Given the description of an element on the screen output the (x, y) to click on. 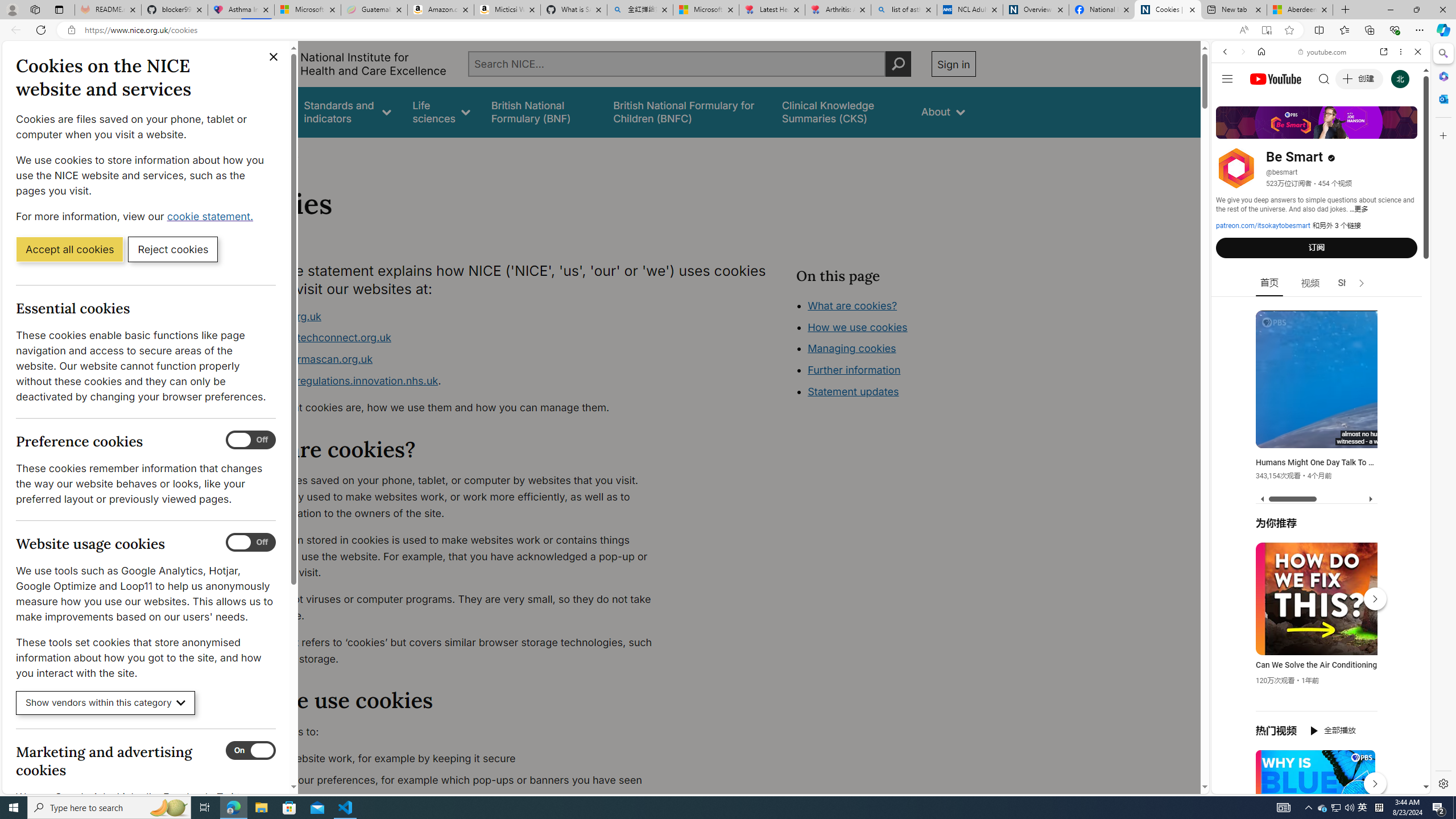
www.digitalregulations.innovation.nhs.uk. (452, 380)
list of asthma inhalers uk - Search (904, 9)
Show More Music (1390, 310)
What are cookies? (852, 305)
YouTube - YouTube (1315, 560)
